Given the description of an element on the screen output the (x, y) to click on. 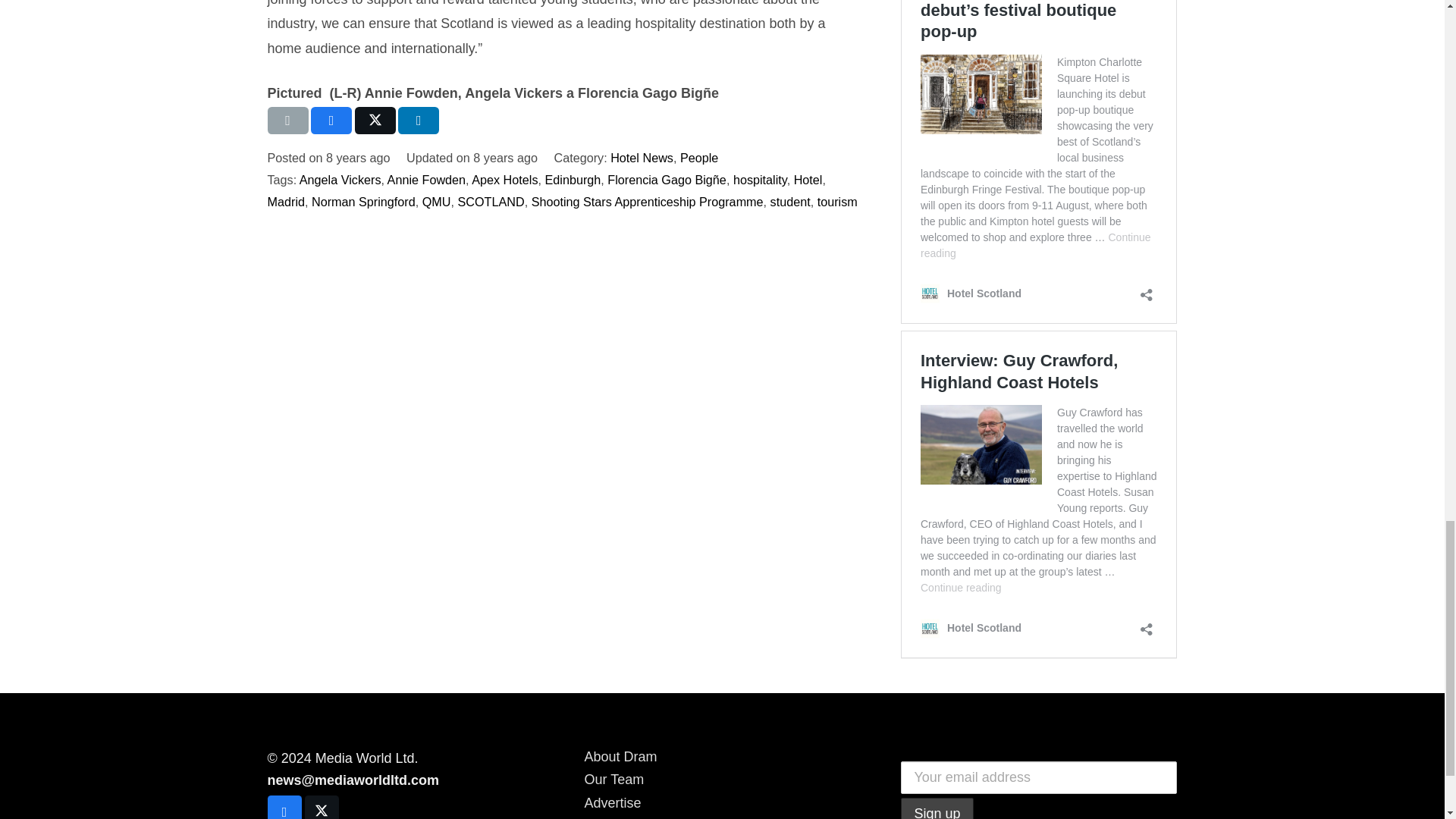
Annie Fowden (426, 179)
Angela Vickers (340, 179)
Email this (286, 120)
Facebook (283, 807)
Twitter (321, 807)
People (698, 157)
Tweet this (375, 120)
Apex Hotels (504, 179)
Share this (331, 120)
Share this (418, 120)
